Given the description of an element on the screen output the (x, y) to click on. 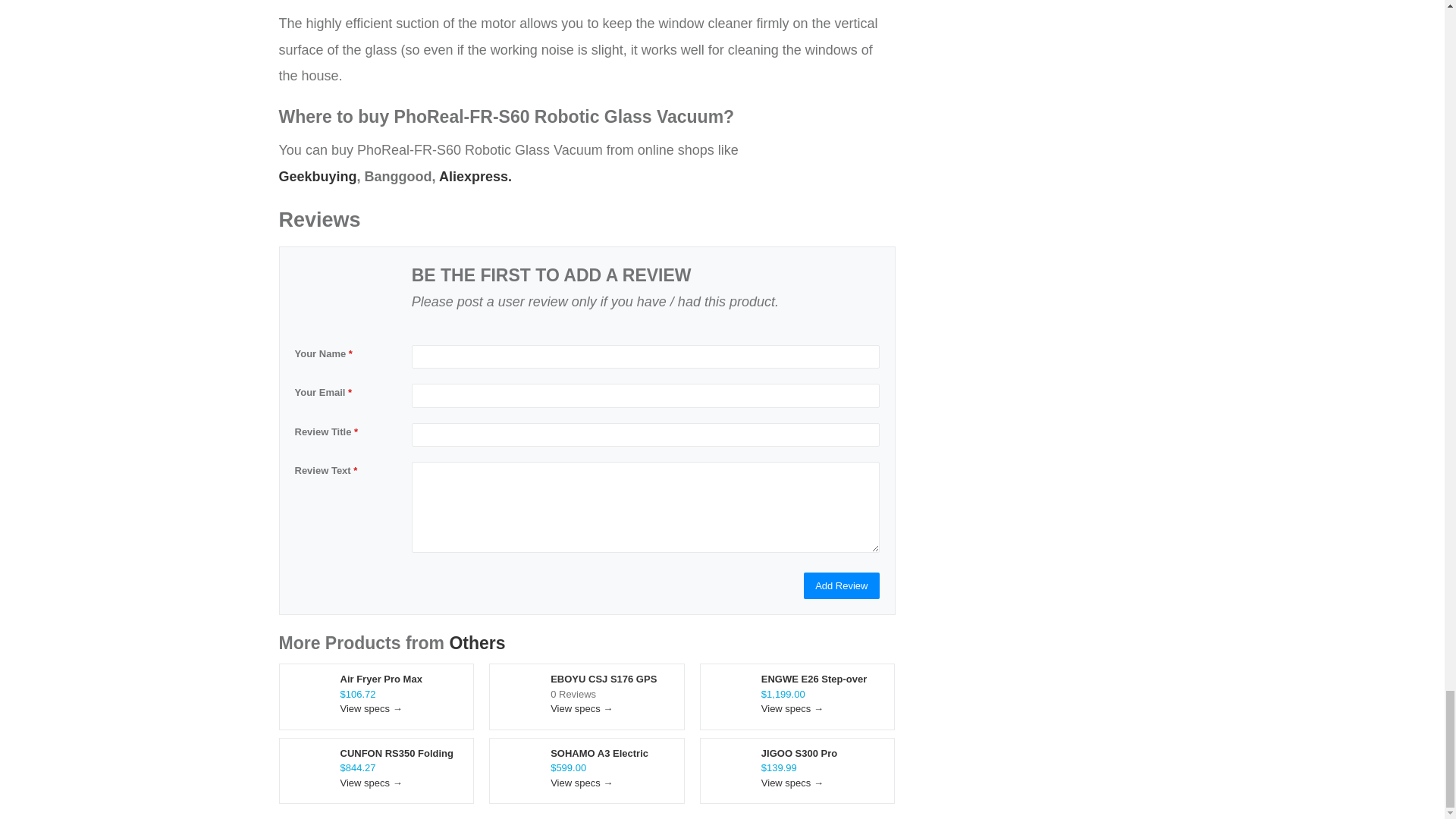
Aliexpress. (475, 176)
Geekbuying (317, 176)
Add Review (841, 585)
Add Review (841, 585)
